Given the description of an element on the screen output the (x, y) to click on. 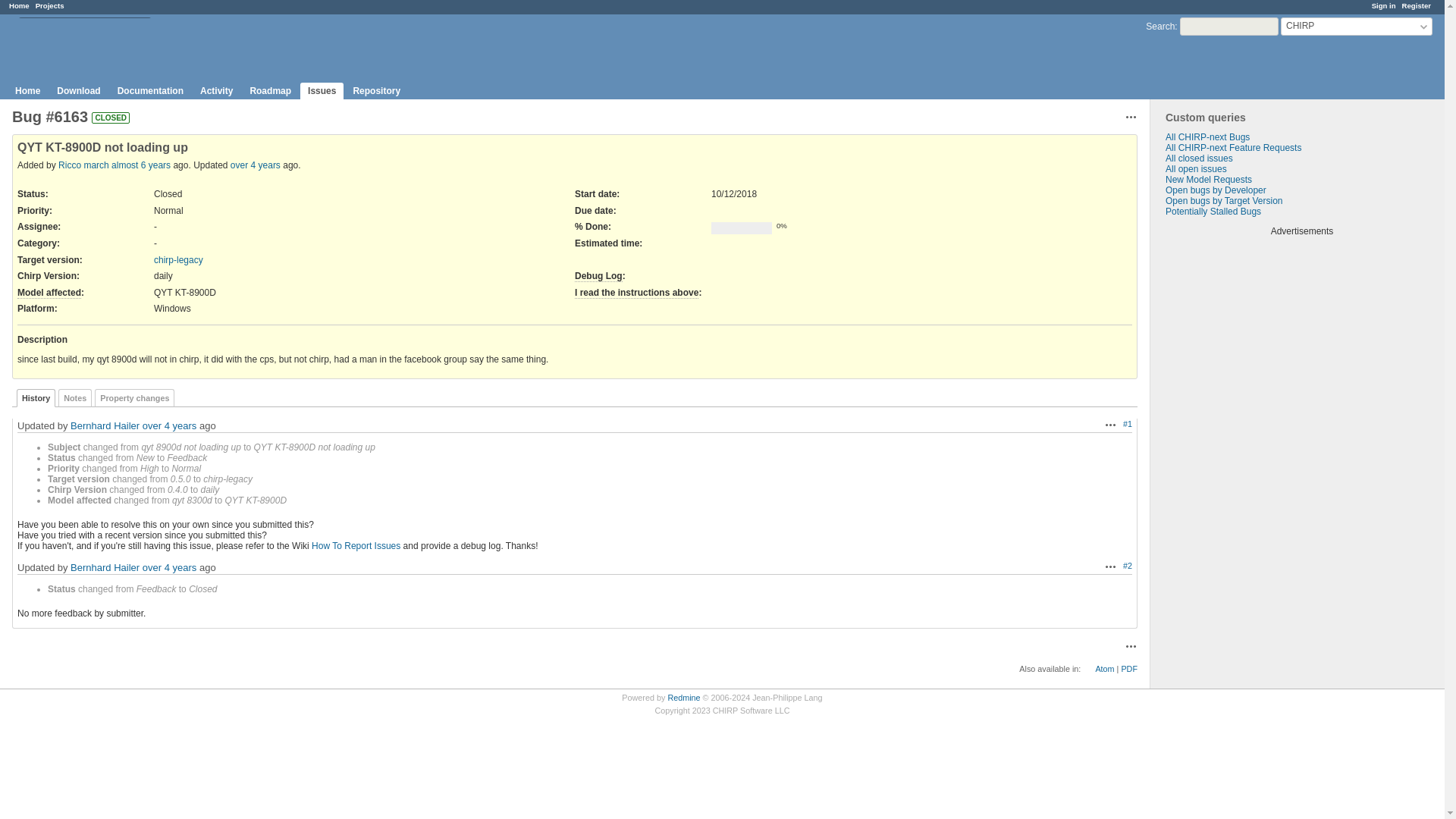
Bernhard Hailer (104, 425)
History (35, 398)
All CHIRP-next Feature Requests (1233, 147)
almost 6 years (141, 164)
Open bugs by Target Version (1224, 200)
Documentation (150, 90)
Actions (1131, 116)
chirp-legacy (178, 259)
Property changes (134, 398)
over 4 years (169, 425)
